Given the description of an element on the screen output the (x, y) to click on. 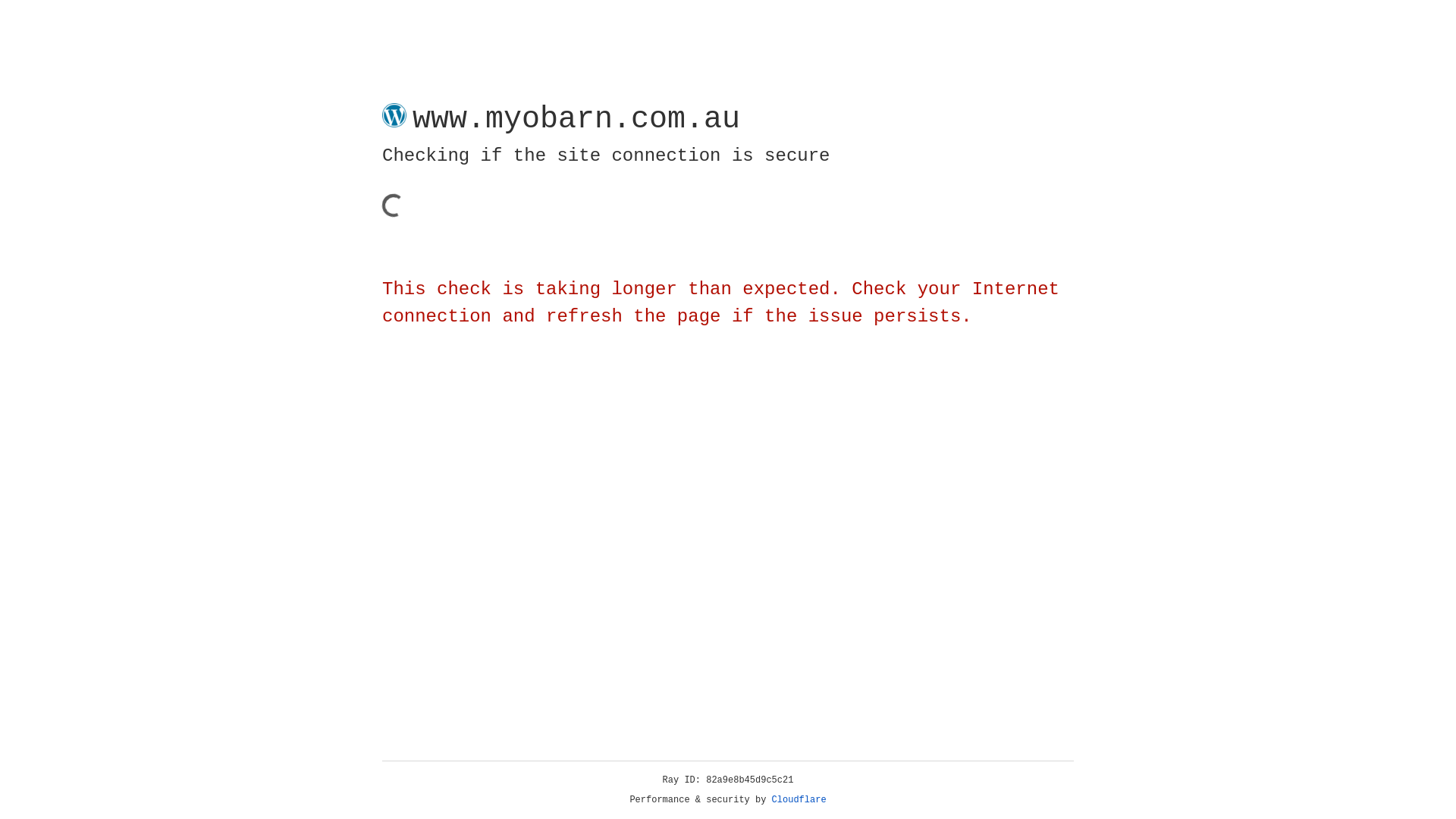
Cloudflare Element type: text (798, 799)
